Given the description of an element on the screen output the (x, y) to click on. 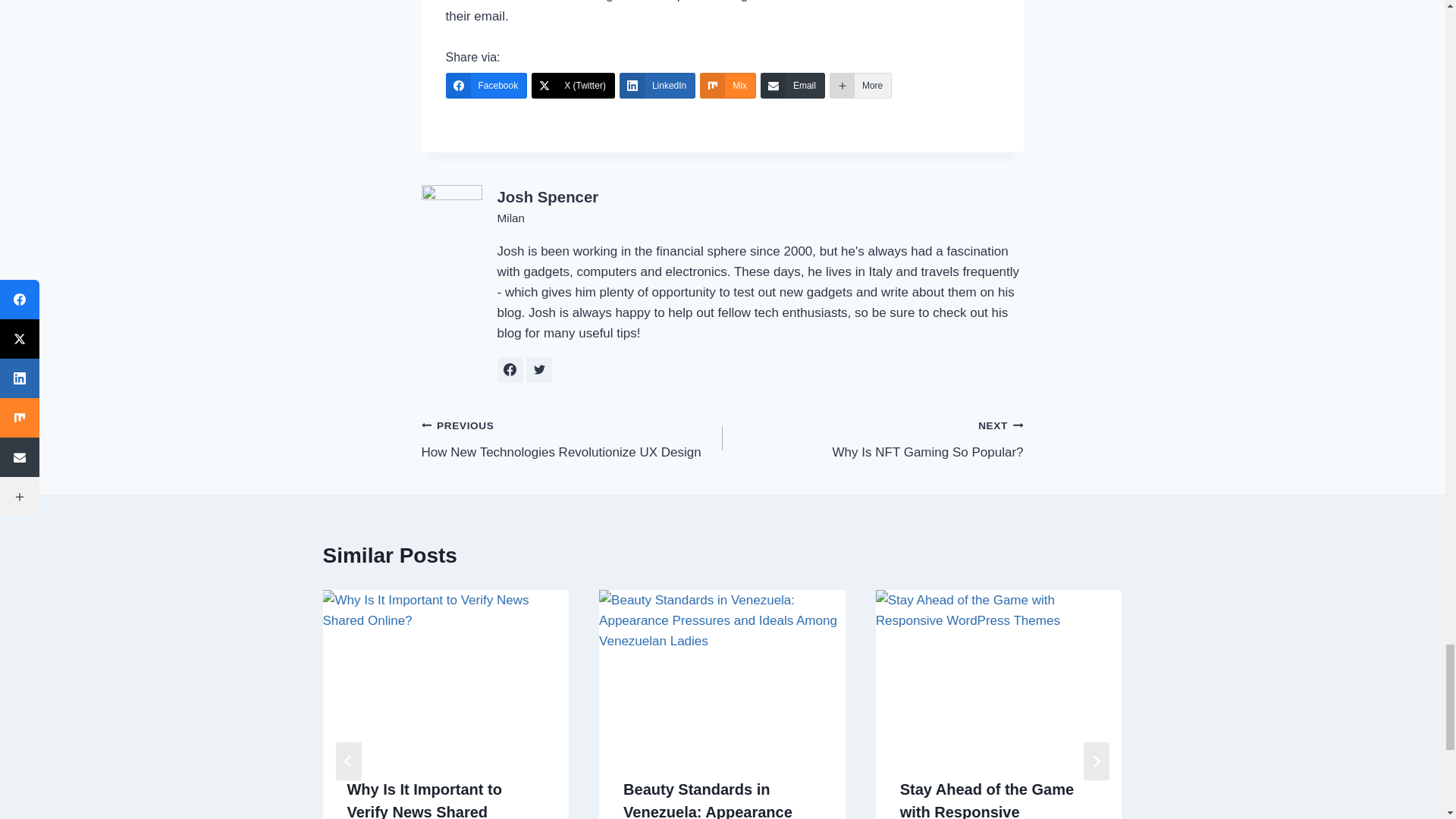
Posts by Josh Spencer (547, 196)
Facebook (486, 85)
Follow Josh Spencer on Facebook (509, 370)
LinkedIn (657, 85)
Follow Josh Spencer on Twitter (538, 370)
